Given the description of an element on the screen output the (x, y) to click on. 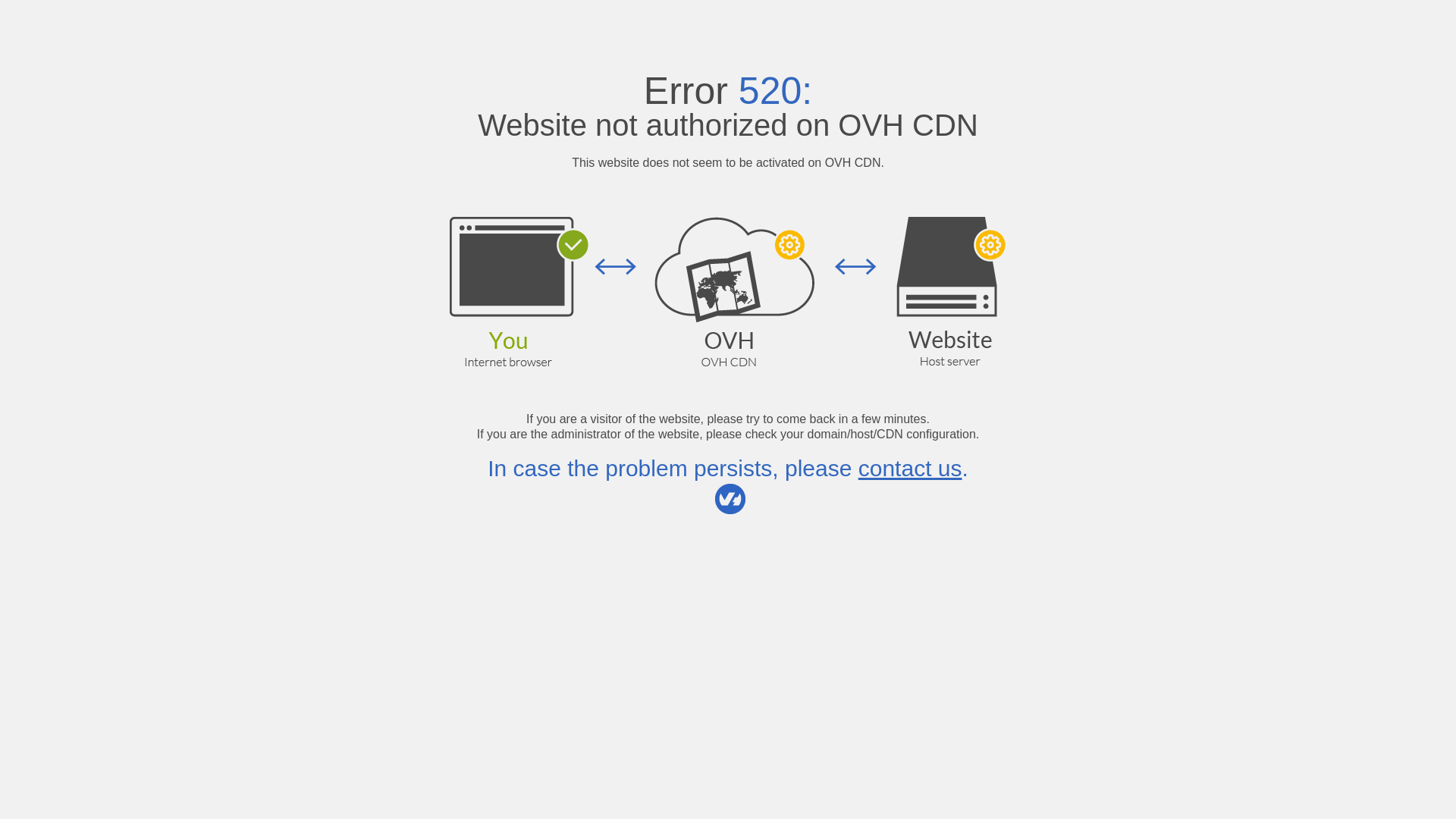
contact us Element type: text (910, 467)
